Given the description of an element on the screen output the (x, y) to click on. 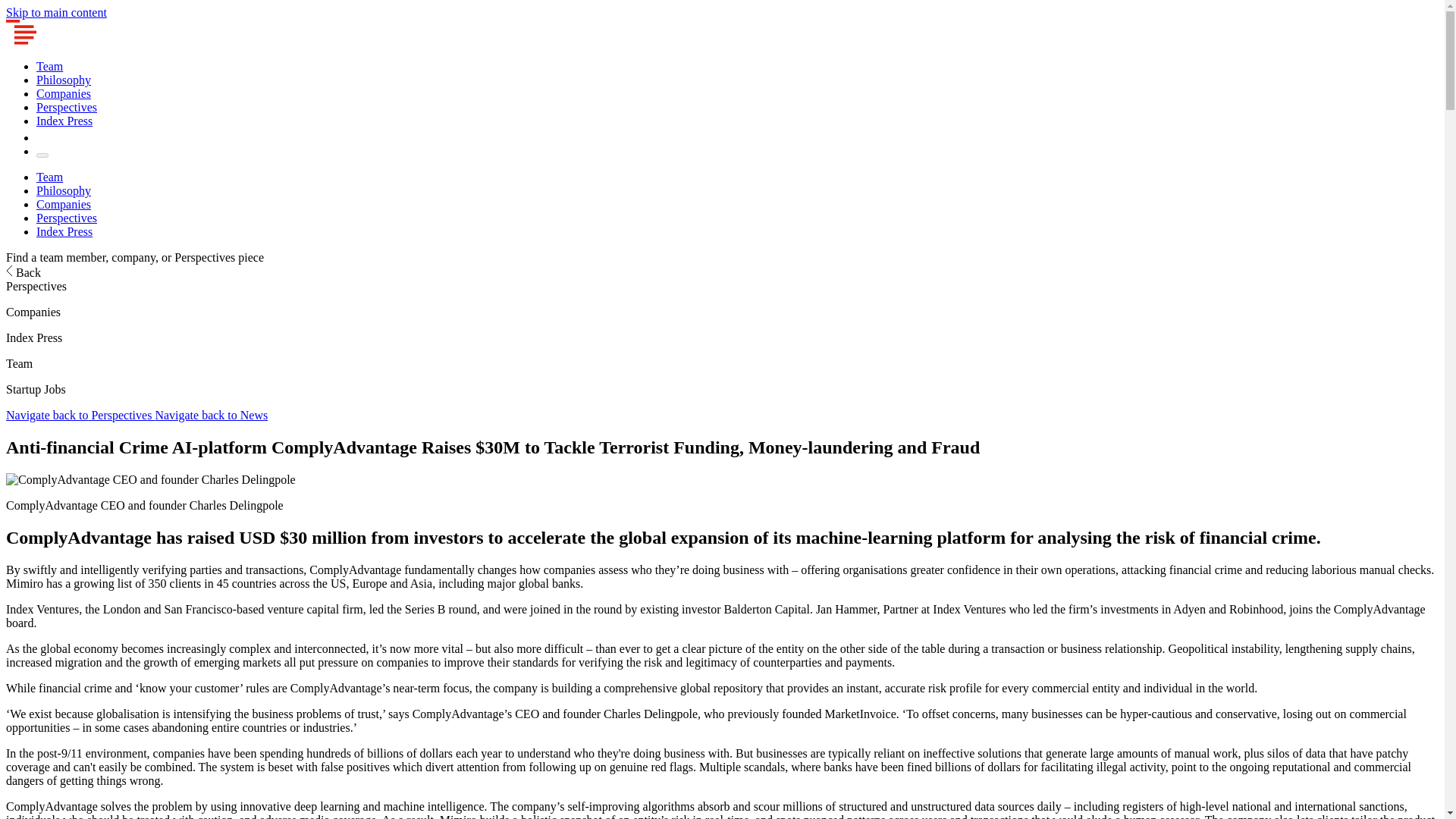
Companies (63, 92)
Index Press (64, 231)
Philosophy (63, 79)
Perspectives (66, 217)
Index Press (64, 120)
Navigate back to Perspectives (79, 414)
Navigate back to News (210, 414)
Companies (63, 204)
Perspectives (66, 106)
Team (49, 65)
Team (49, 176)
Philosophy (63, 190)
Skip to main content (55, 11)
